Given the description of an element on the screen output the (x, y) to click on. 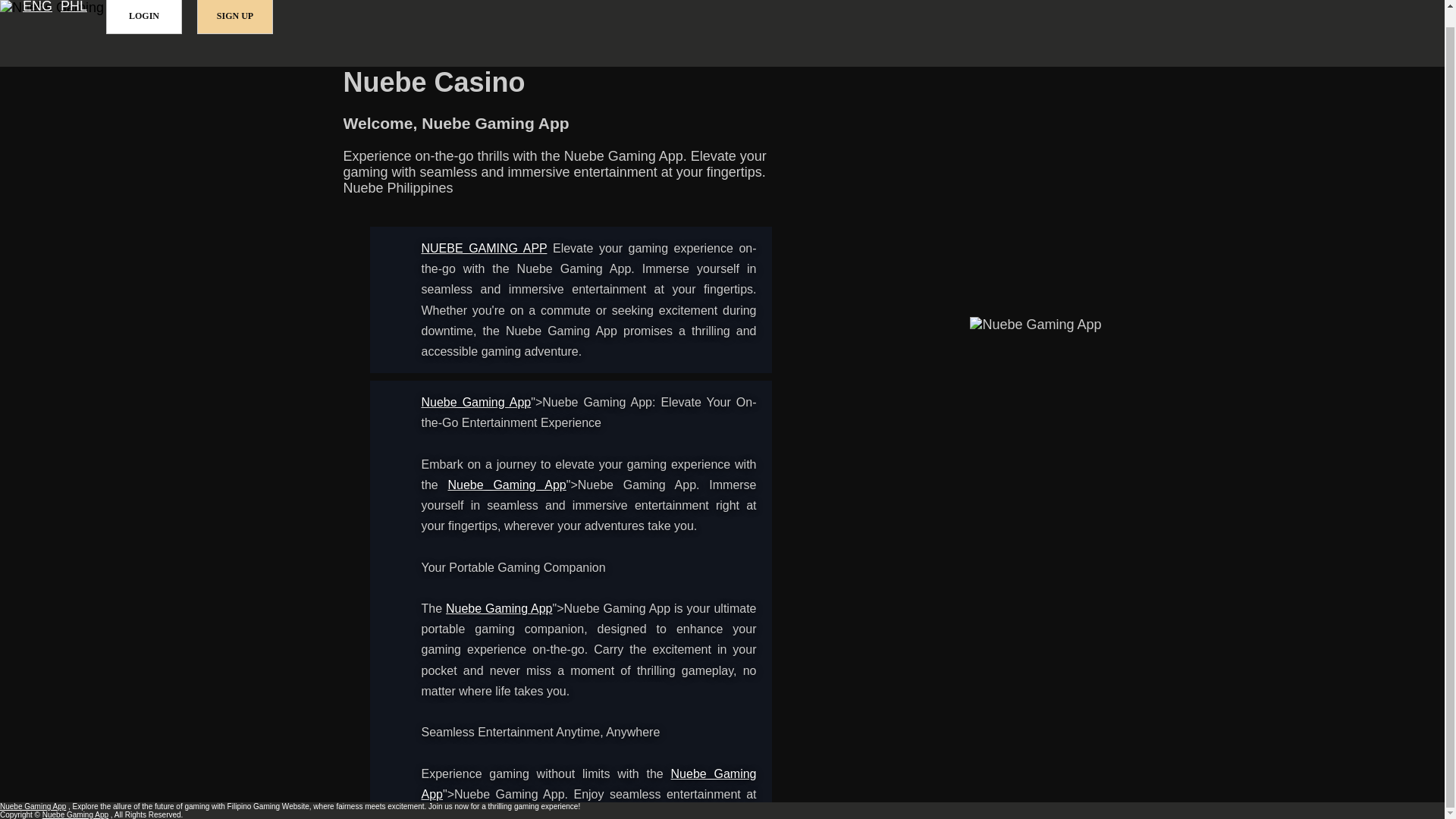
ENG (37, 7)
Nuebe Gaming App (506, 484)
NUEBE GAMING APP (484, 247)
Filipino (74, 7)
PHL (74, 7)
Nuebe Gaming App (484, 247)
English (37, 7)
LOGIN (144, 17)
SIGN UP (234, 17)
Nuebe Gaming App (476, 401)
Nuebe Gaming App (589, 783)
Nuebe Gaming App (499, 608)
